Given the description of an element on the screen output the (x, y) to click on. 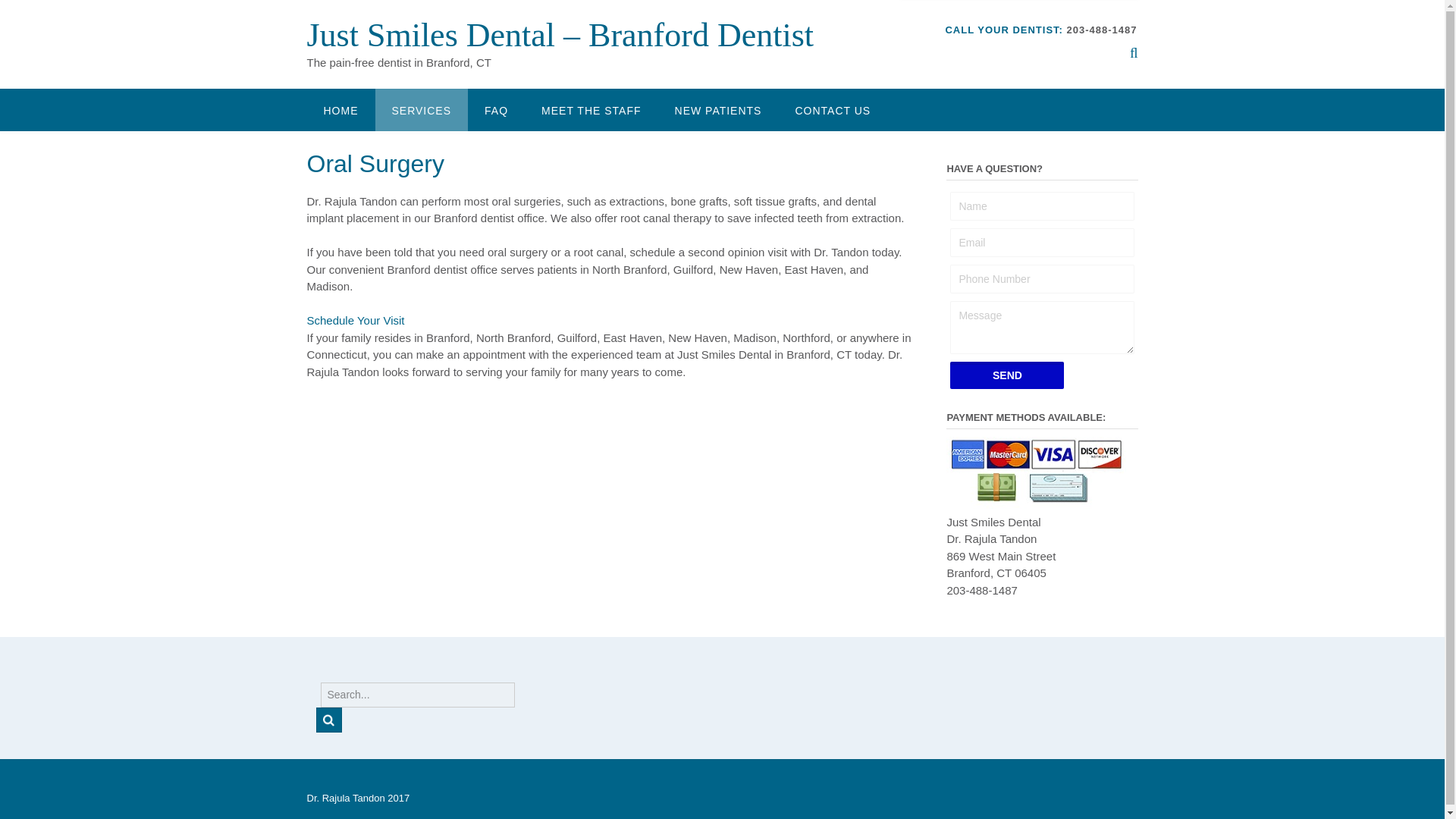
NEW PATIENTS (718, 109)
Send (1007, 375)
Send (1007, 375)
HOME (339, 109)
CALL YOUR DENTIST: 203-488-1487 (1040, 30)
SERVICES (420, 109)
Search for: (416, 694)
CONTACT US (831, 109)
